Given the description of an element on the screen output the (x, y) to click on. 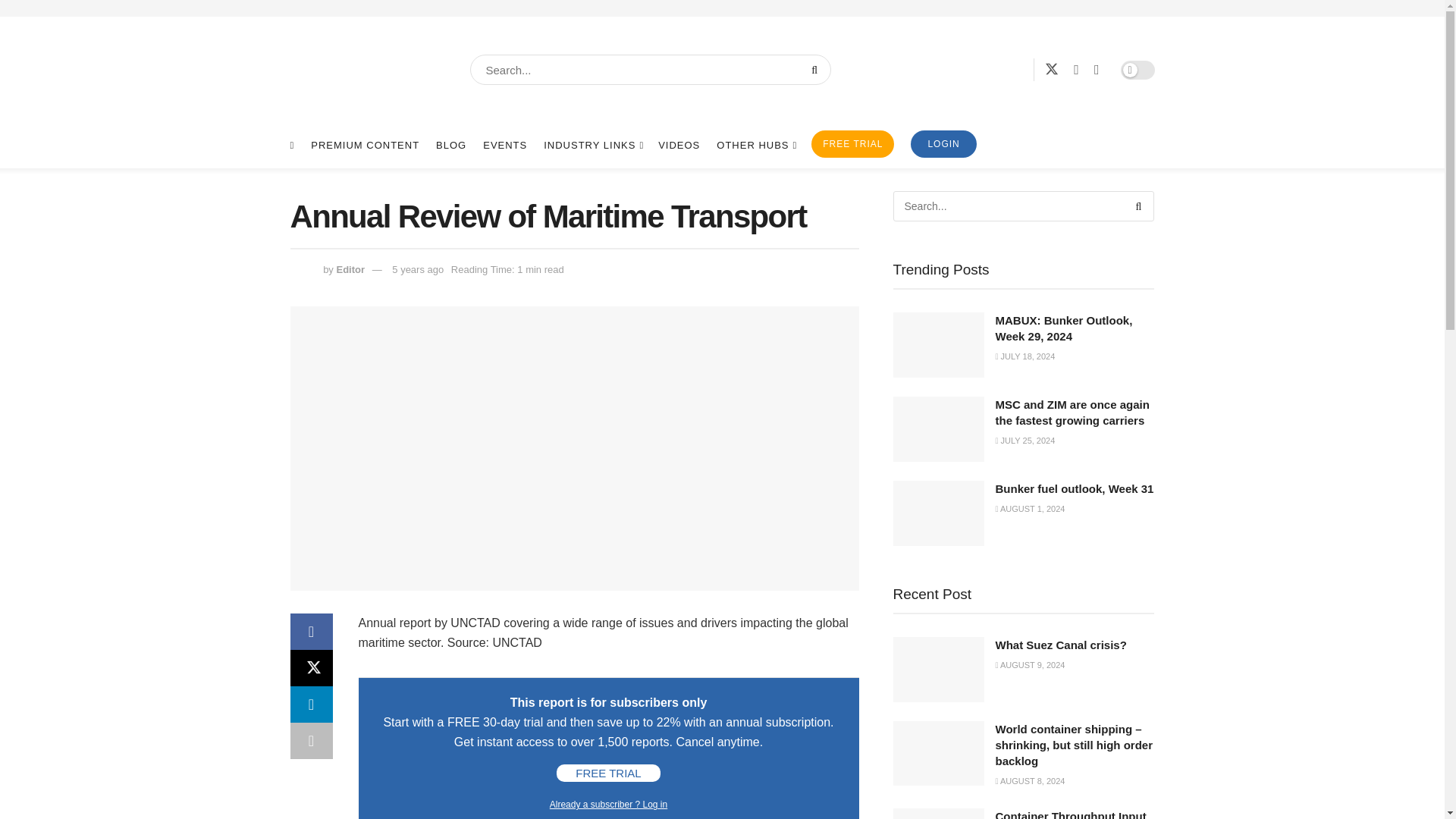
INDUSTRY LINKS (592, 145)
FREE TRIAL (851, 144)
VIDEOS (679, 145)
EVENTS (505, 145)
OTHER HUBS (755, 145)
PREMIUM CONTENT (365, 145)
LOGIN (943, 144)
